Given the description of an element on the screen output the (x, y) to click on. 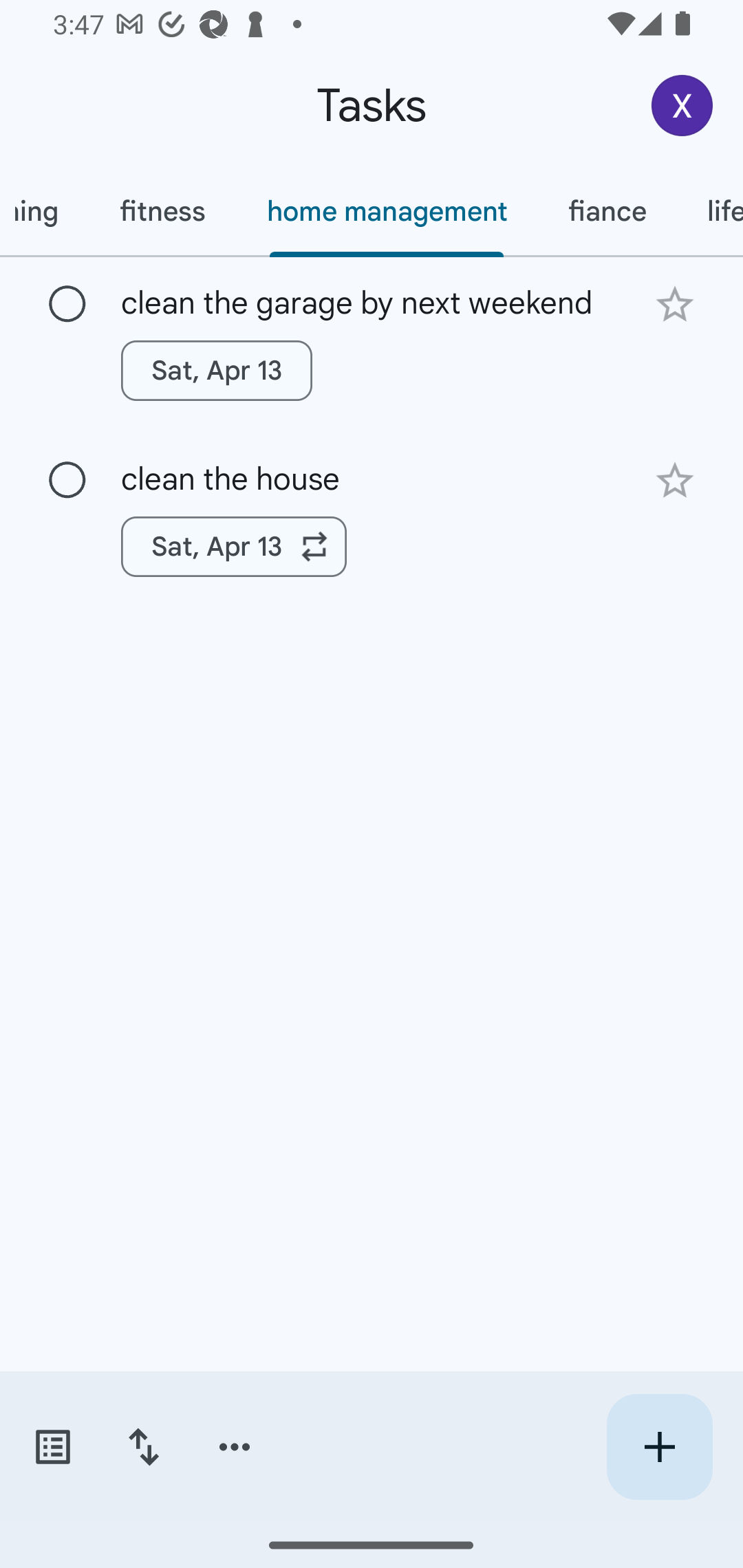
fitness (162, 211)
fiance (606, 211)
Add star (674, 303)
Mark as complete (67, 304)
Sat, Apr 13 (216, 369)
Add star (674, 480)
Mark as complete (67, 480)
Sat, Apr 13 (233, 546)
Switch task lists (52, 1447)
Create new task (659, 1446)
Change sort order (143, 1446)
More options (234, 1446)
